Given the description of an element on the screen output the (x, y) to click on. 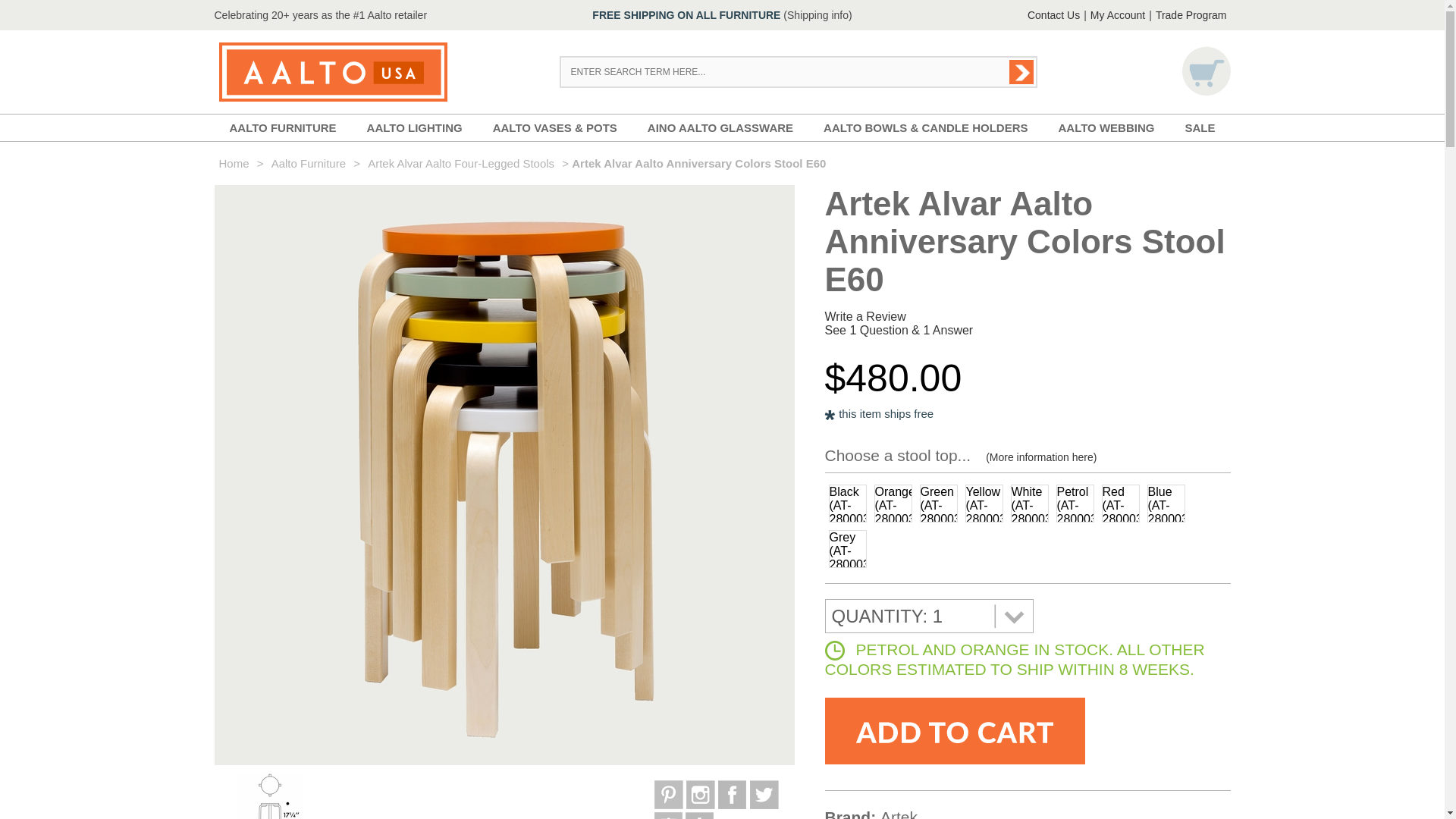
Write a Review (865, 316)
My Account (1117, 15)
AINO AALTO GLASSWARE (720, 127)
AALTO FURNITURE (282, 127)
Contact Us (1053, 15)
AALTO LIGHTING (414, 127)
SALE (1199, 127)
Artek Alvar Aalto Four-Legged Stools (460, 163)
Trade Program (1190, 15)
AALTO WEBBING (1106, 127)
Shipping info (817, 15)
Aalto Furniture (308, 163)
Home (233, 163)
